Given the description of an element on the screen output the (x, y) to click on. 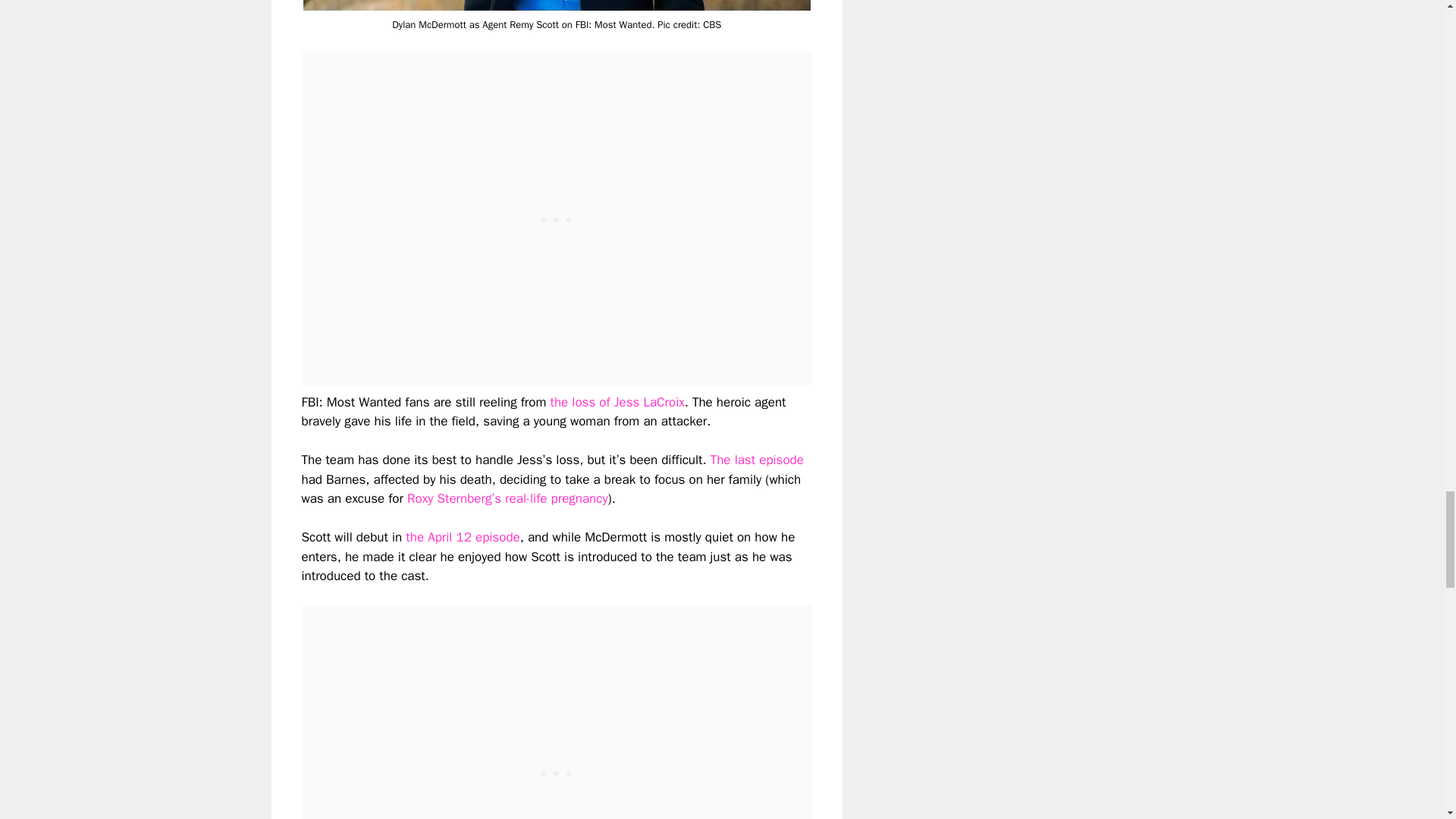
the loss of Jess LaCroix (617, 401)
the April 12 episode (462, 537)
The last episode (756, 459)
